Given the description of an element on the screen output the (x, y) to click on. 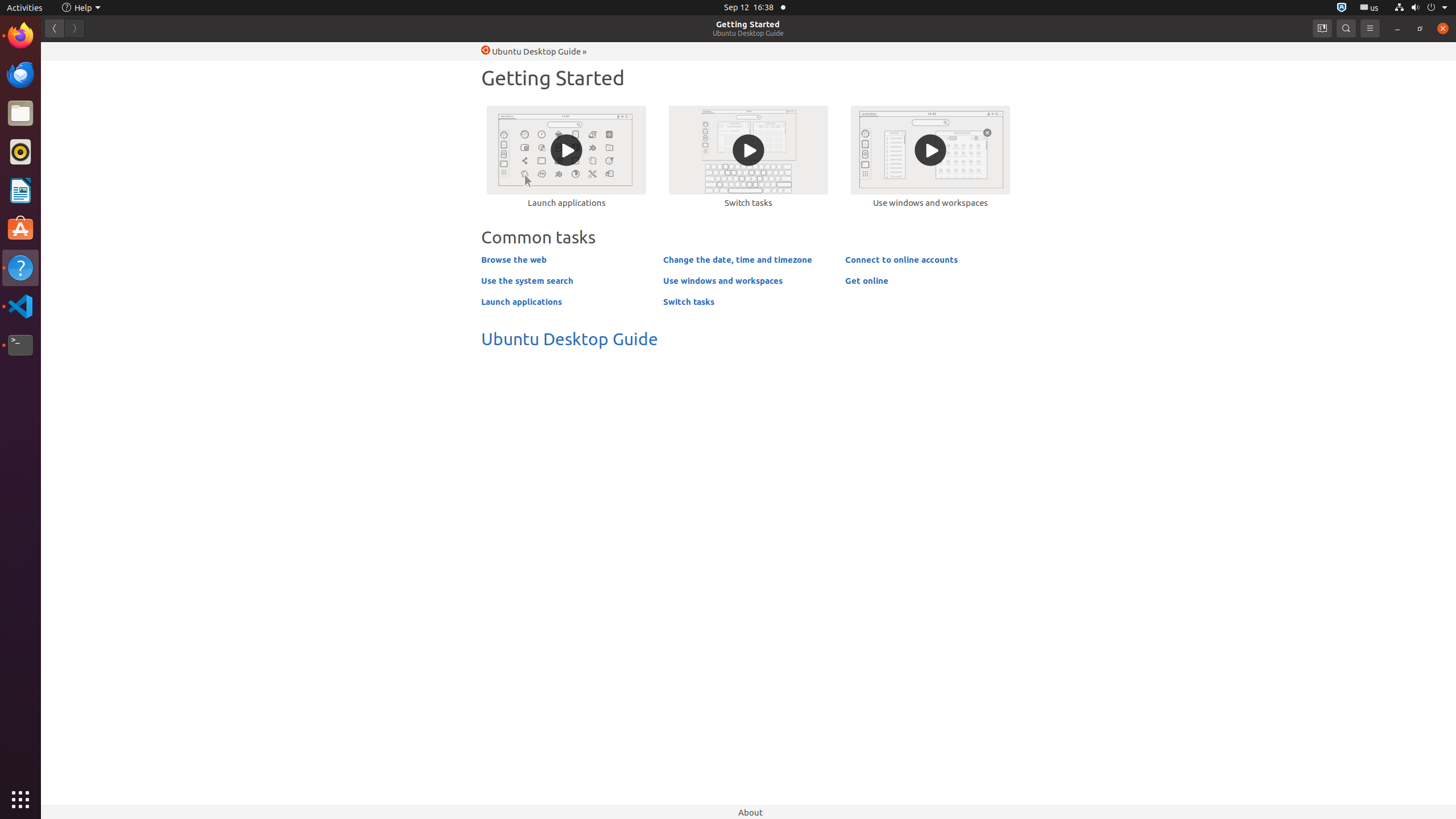
Get online Element type: link (866, 280)
Close Element type: push-button (1442, 27)
IsaHelpMain.desktop Element type: label (75, 170)
Browse the web Element type: link (513, 259)
